Given the description of an element on the screen output the (x, y) to click on. 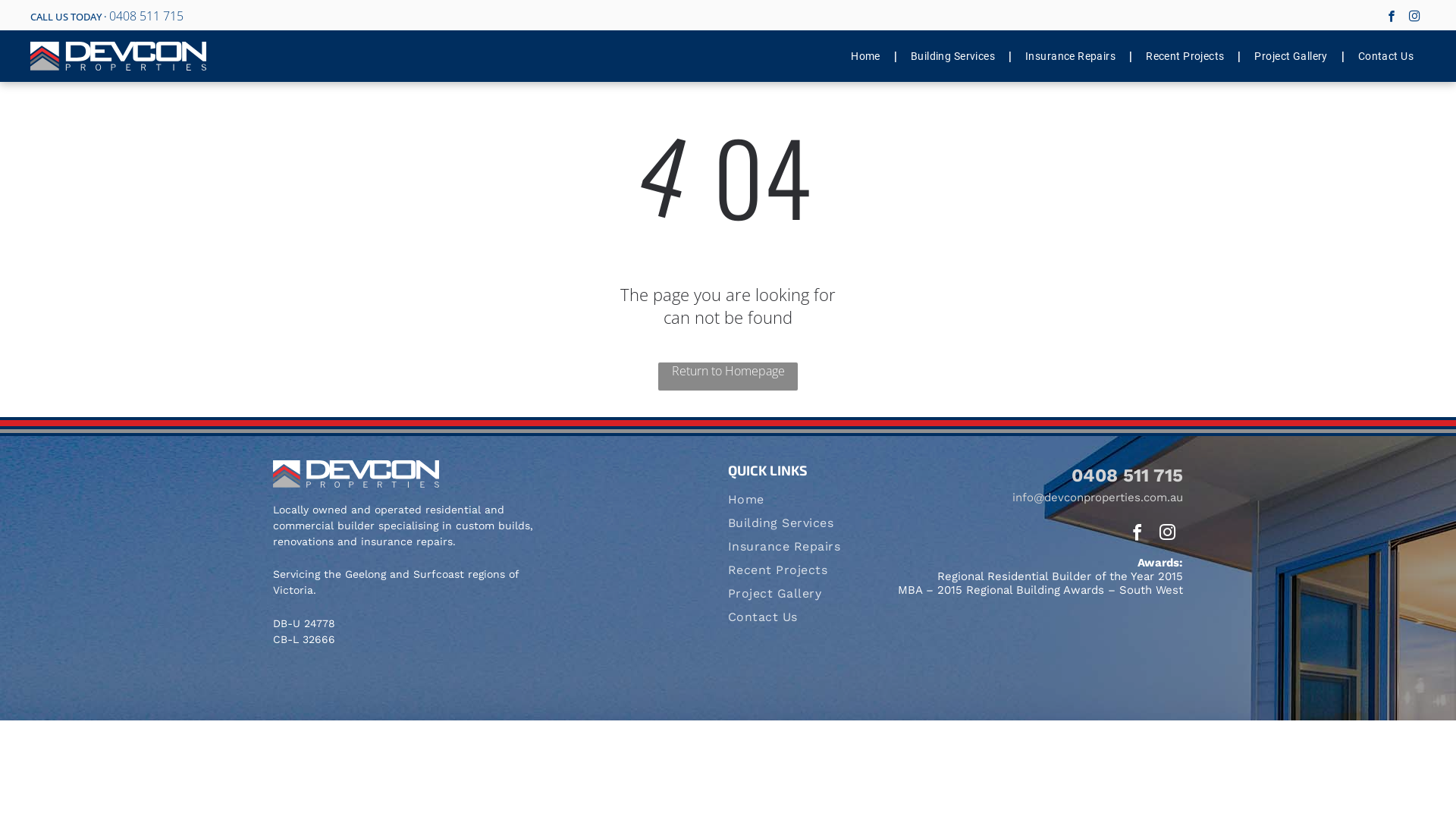
Contact Us Element type: text (798, 621)
Insurance Repairs Element type: text (798, 550)
Back to home page Element type: hover (356, 473)
Recent Projects Element type: text (1184, 55)
0408 511 715 Element type: text (1127, 475)
0408 511 715 Element type: text (146, 15)
Home Element type: text (798, 503)
Building Services Element type: text (952, 55)
Recent Projects Element type: text (798, 574)
Contact Us Element type: text (1385, 55)
Building Services Element type: text (798, 527)
Return to Homepage Element type: text (727, 376)
info@devconproperties.com.au Element type: text (1097, 497)
Project Gallery Element type: text (1290, 55)
Project Gallery Element type: text (798, 597)
Insurance Repairs Element type: text (1070, 55)
Home Element type: text (865, 55)
